Given the description of an element on the screen output the (x, y) to click on. 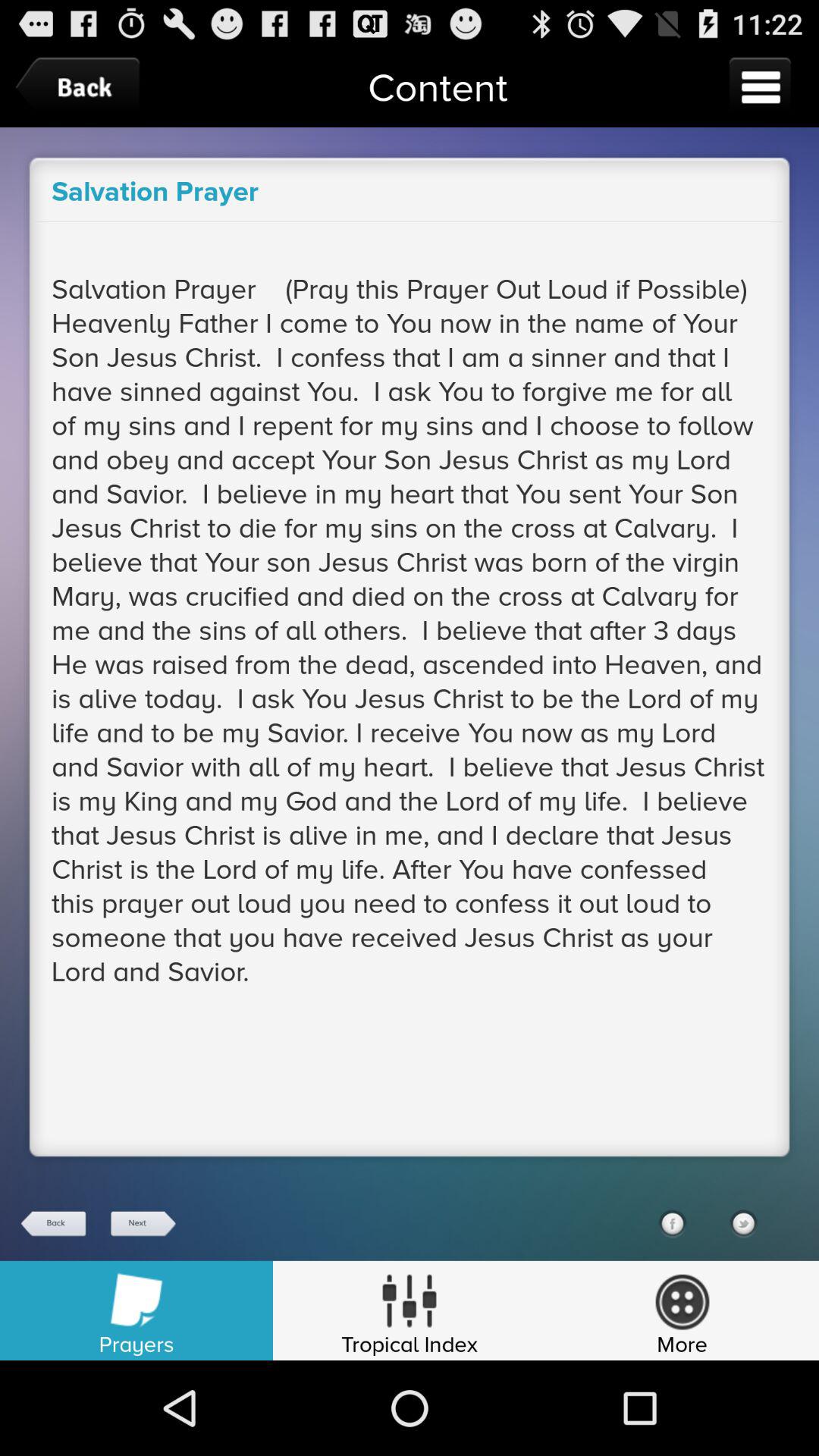
choose item below salvation prayer pray (743, 1223)
